Given the description of an element on the screen output the (x, y) to click on. 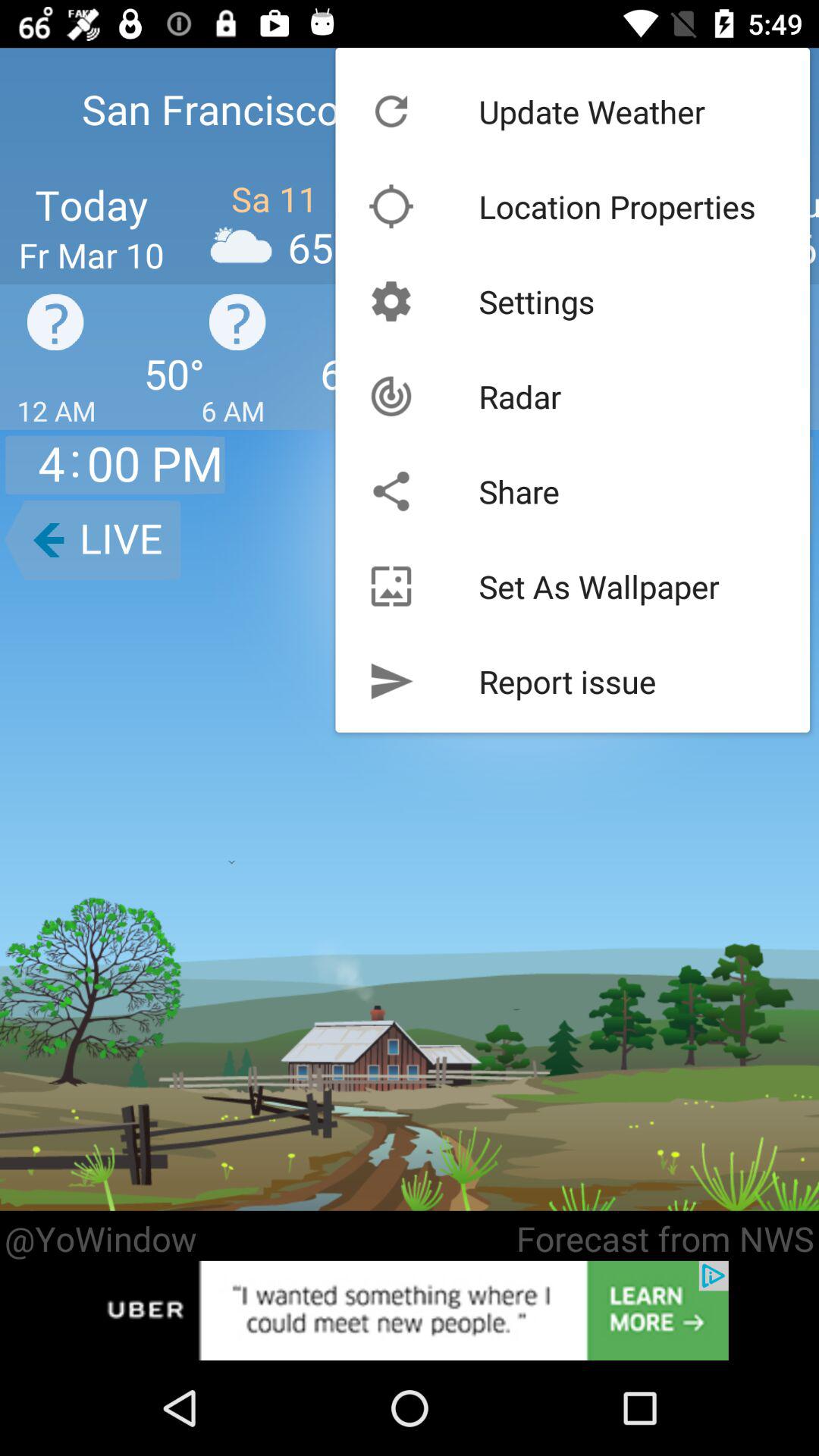
choose icon above the report issue item (598, 585)
